Given the description of an element on the screen output the (x, y) to click on. 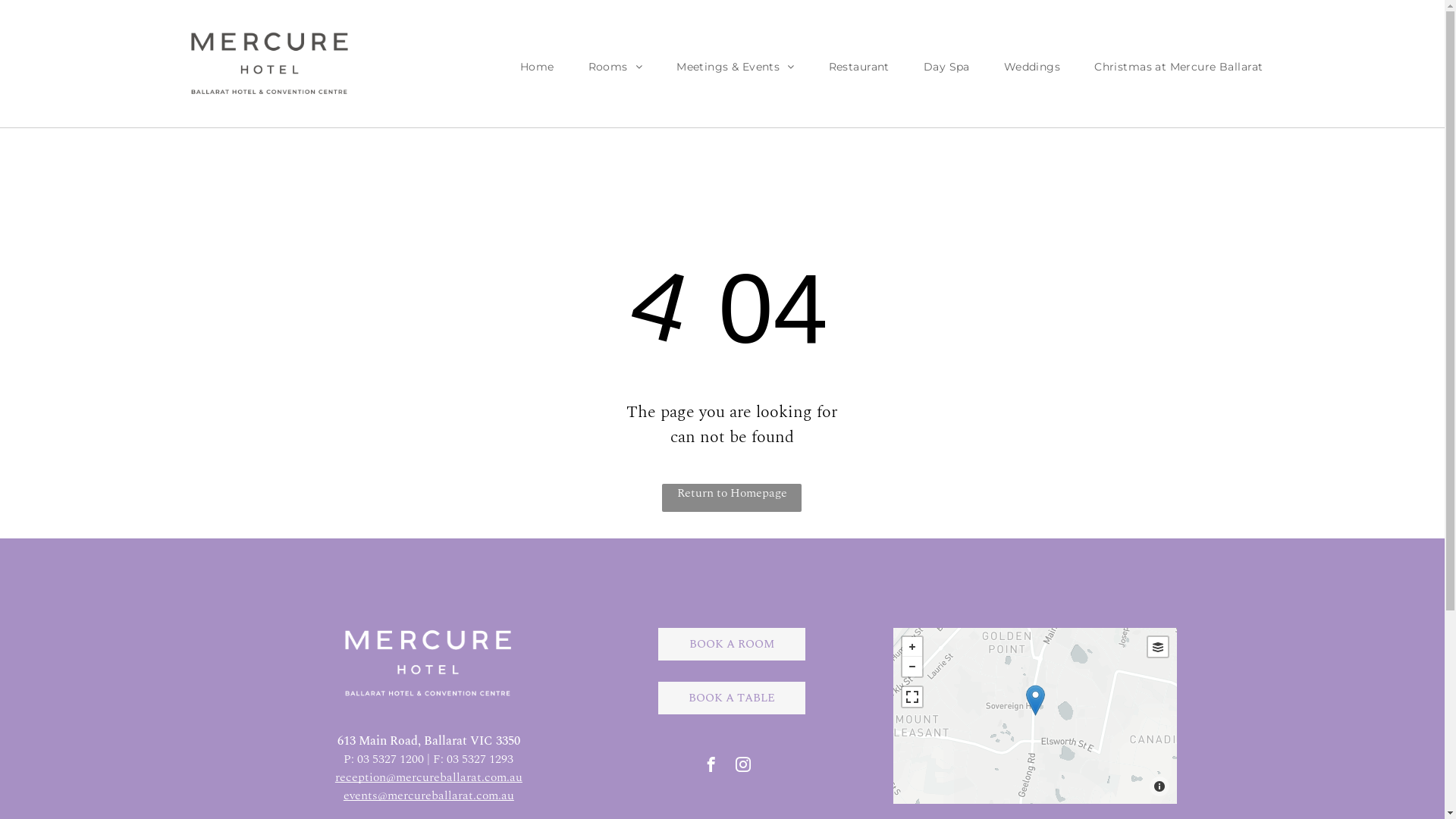
BOOK A ROOM Element type: text (731, 643)
- Element type: text (912, 666)
View Fullscreen Element type: hover (912, 696)
Return to Homepage Element type: text (731, 497)
03 5327 1200 Element type: text (390, 758)
Meetings & Events Element type: text (735, 66)
Weddings Element type: text (1031, 66)
Home Element type: text (536, 66)
Layers Element type: hover (1157, 646)
Rooms Element type: text (615, 66)
events@mercureballarat.com.au Element type: text (428, 795)
Day Spa Element type: text (946, 66)
Restaurant Element type: text (858, 66)
Christmas at Mercure Ballarat Element type: text (1178, 66)
+ Element type: text (912, 646)
BOOK A TABLE Element type: text (731, 697)
reception@mercureballarat.com.au Element type: text (428, 777)
